Given the description of an element on the screen output the (x, y) to click on. 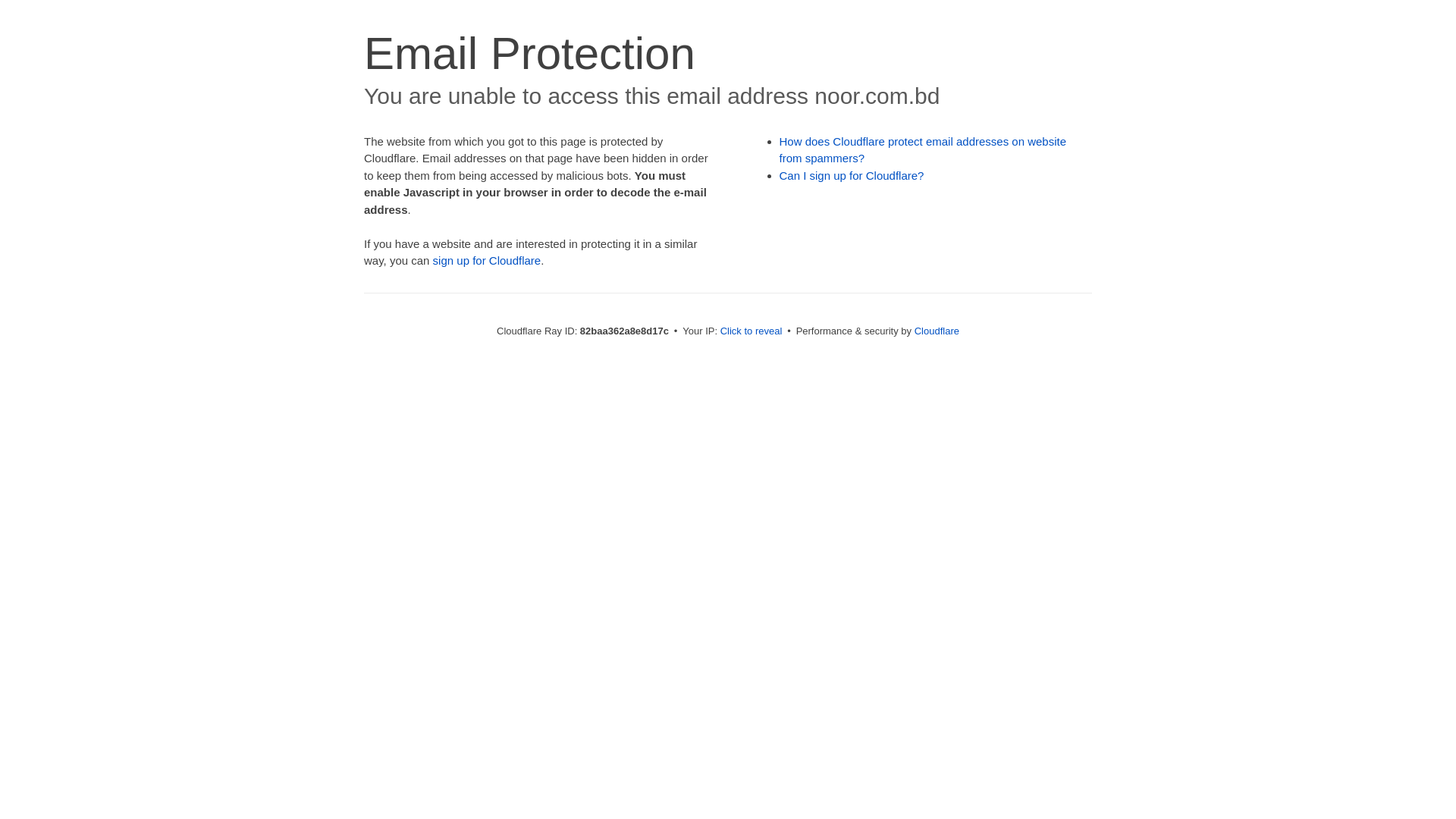
Click to reveal Element type: text (751, 330)
Cloudflare Element type: text (936, 330)
sign up for Cloudflare Element type: text (487, 260)
Can I sign up for Cloudflare? Element type: text (851, 175)
